Given the description of an element on the screen output the (x, y) to click on. 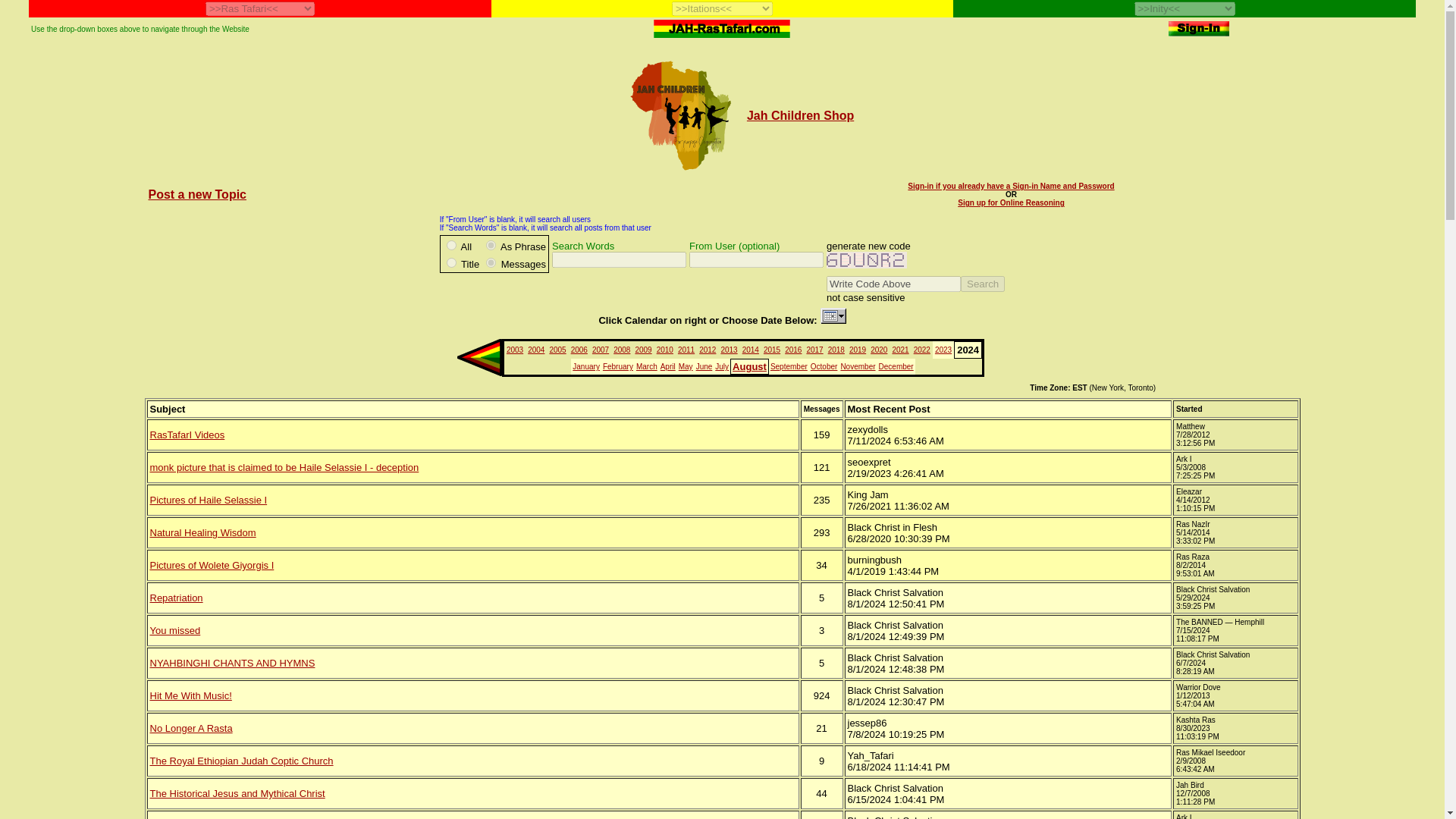
All (451, 245)
April (668, 366)
2010 (664, 349)
2003 (514, 349)
2022 (922, 349)
2020 (878, 349)
2023 (943, 349)
2012 (707, 349)
2016 (793, 349)
2011 (686, 349)
